Given the description of an element on the screen output the (x, y) to click on. 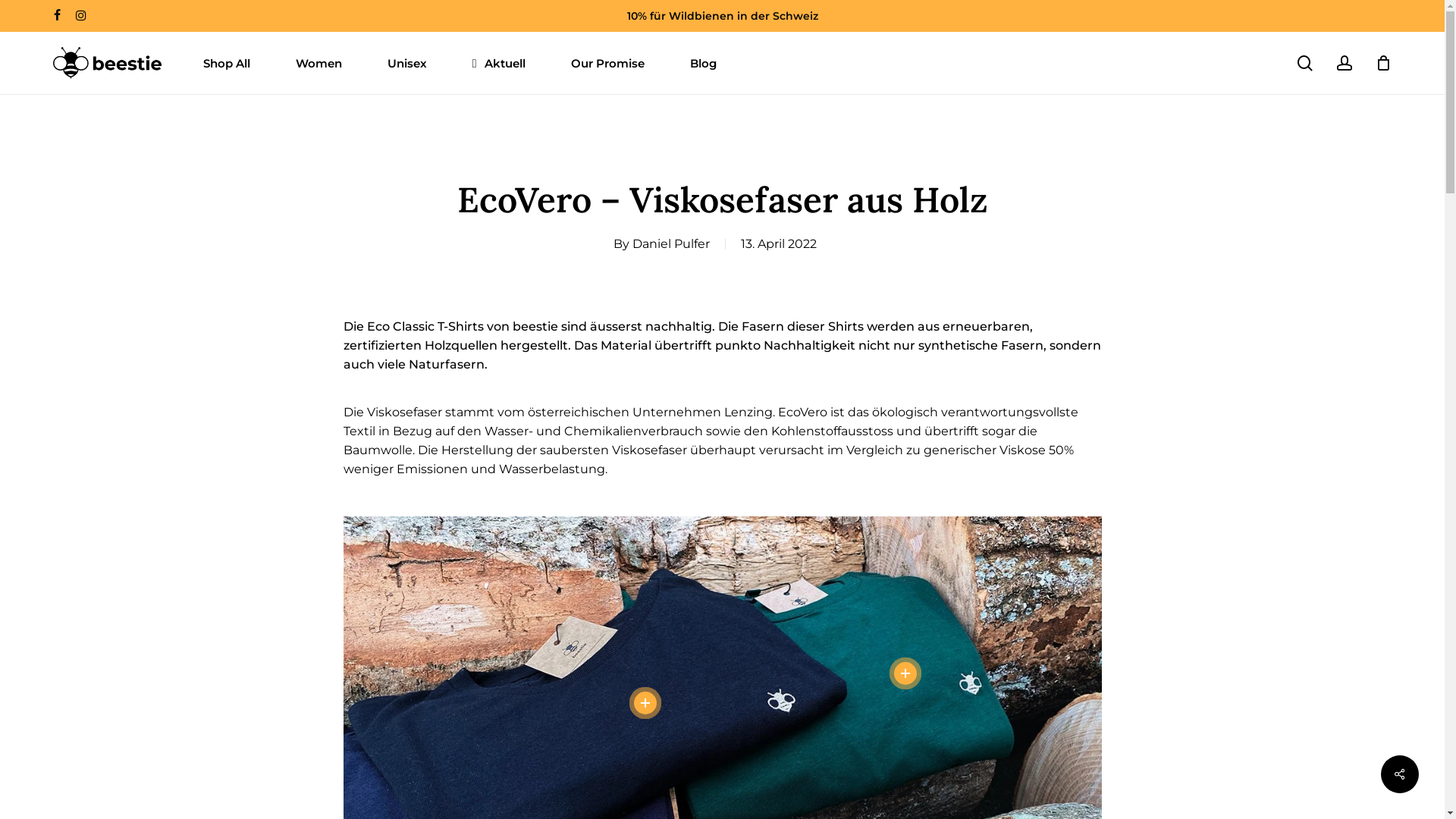
Lenzing Element type: text (747, 411)
account Element type: text (1344, 62)
Women Element type: text (318, 62)
Daniel Pulfer Element type: text (670, 243)
Our Promise Element type: text (607, 62)
Shop All Element type: text (226, 62)
Blog Element type: text (703, 62)
search Element type: text (1304, 62)
facebook Element type: text (56, 15)
instagram Element type: text (80, 15)
Unisex Element type: text (406, 62)
